Given the description of an element on the screen output the (x, y) to click on. 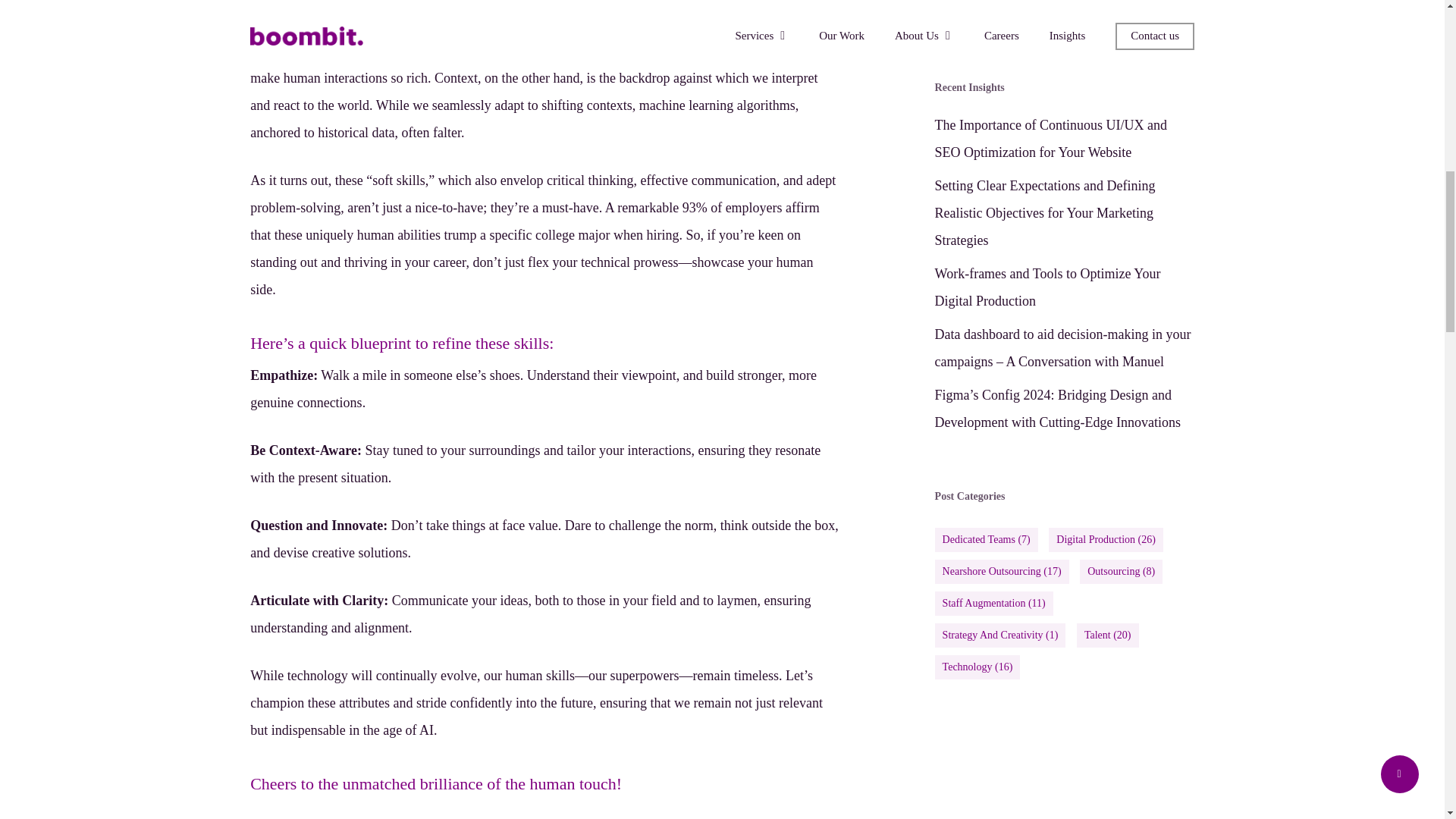
YouTube video player (1063, 10)
Work-frames and Tools to Optimize Your Digital Production (1063, 287)
